Given the description of an element on the screen output the (x, y) to click on. 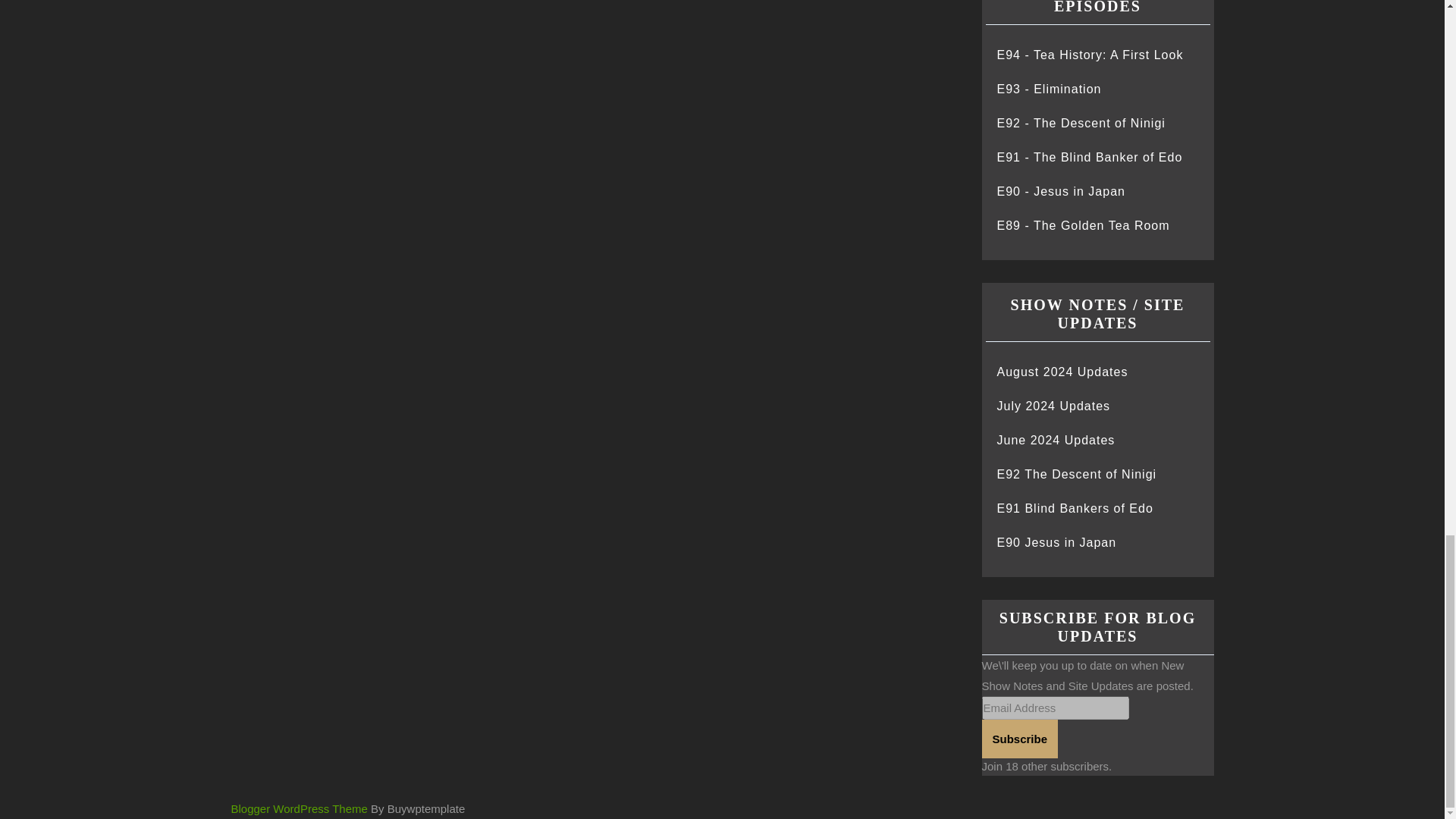
E92 The Descent of Ninigi (1075, 473)
E89 - The Golden Tea Room (1082, 225)
E91 - The Blind Banker of Edo (1088, 156)
E90 - Jesus in Japan (1059, 191)
August 2024 Updates (1060, 371)
E91 Blind Bankers of Edo (1074, 508)
E93 - Elimination (1047, 88)
E94 - Tea History: A First Look (1088, 54)
July 2024 Updates (1052, 405)
E92 - The Descent of Ninigi (1079, 123)
E90 Jesus in Japan (1055, 542)
June 2024 Updates (1055, 440)
